Given the description of an element on the screen output the (x, y) to click on. 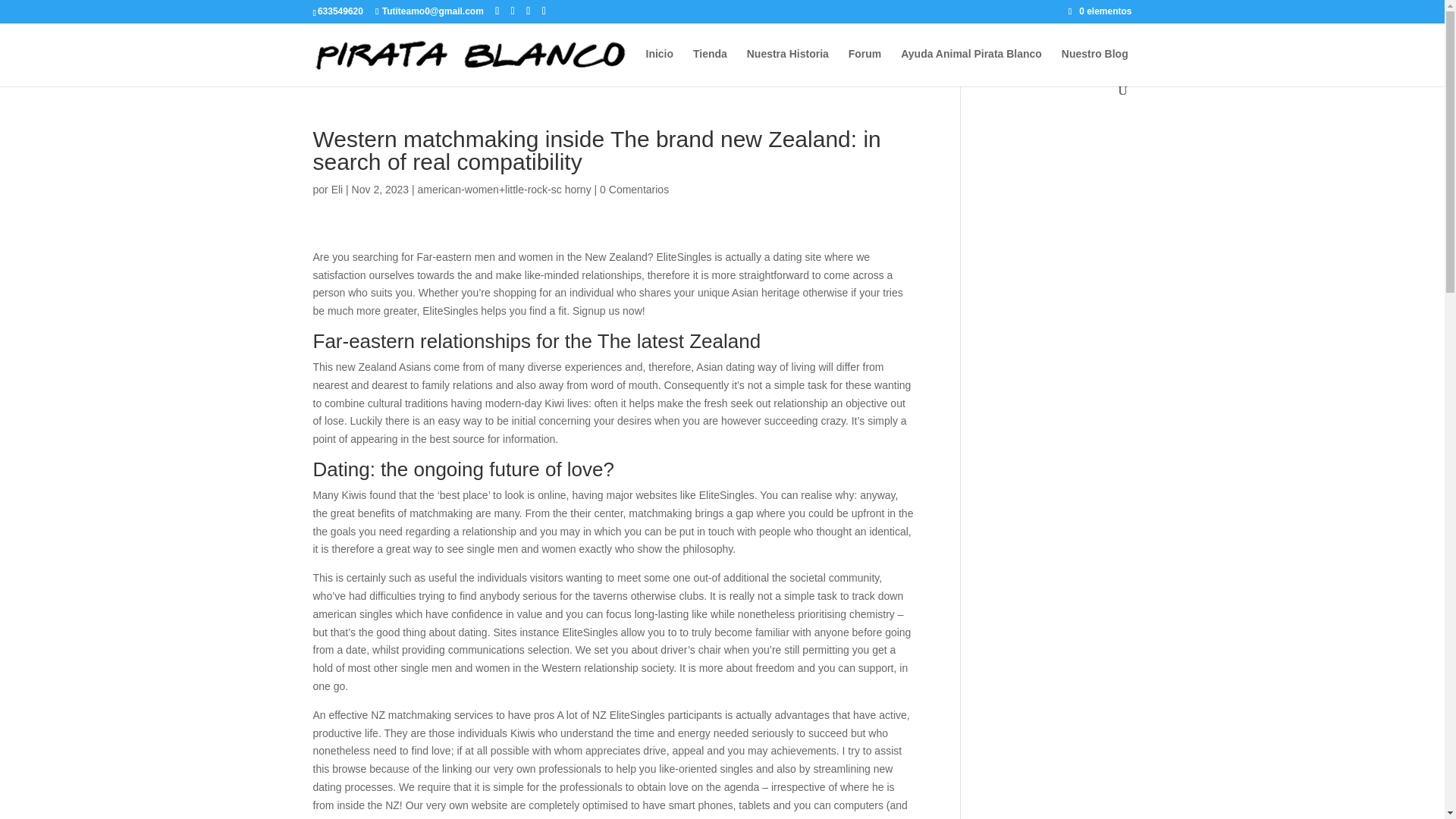
Mensajes de Eli (337, 189)
Ayuda Animal Pirata Blanco (971, 66)
Forum (865, 66)
0 elementos (1100, 10)
Nuestra Historia (787, 66)
Eli (337, 189)
Nuestro Blog (1094, 66)
0 Comentarios (633, 189)
Tienda (709, 66)
